Given the description of an element on the screen output the (x, y) to click on. 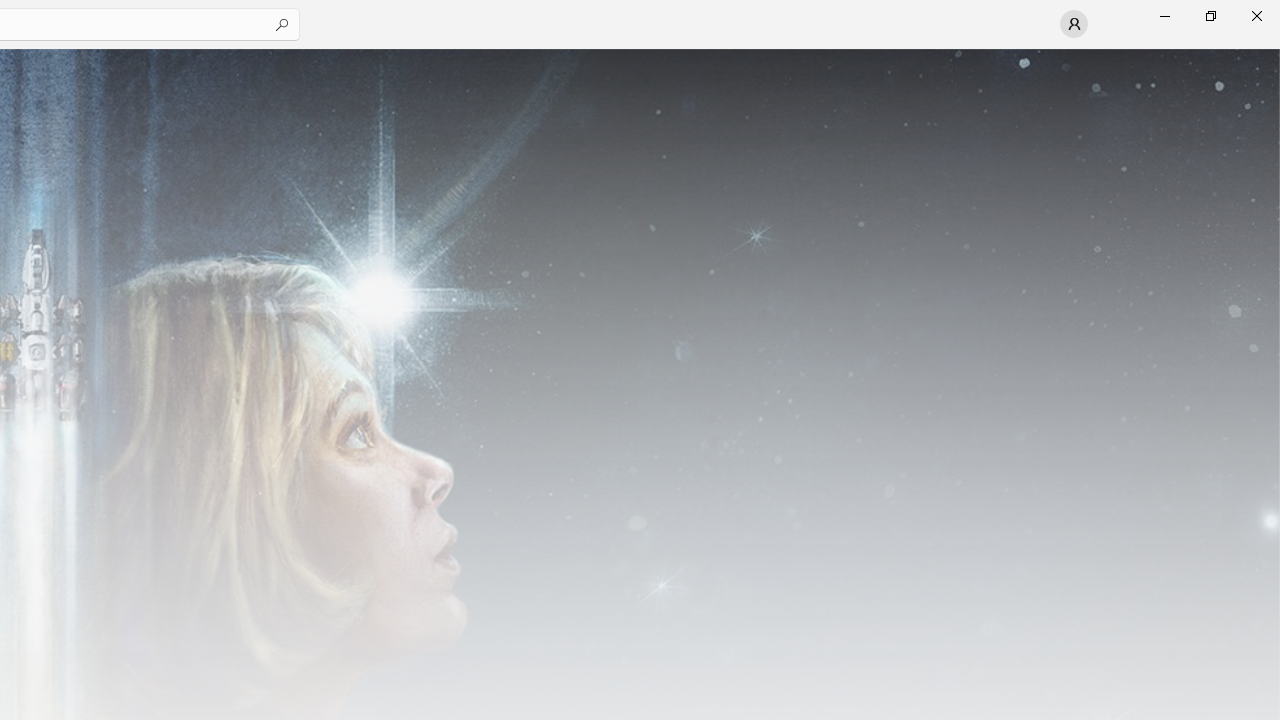
Minimize Microsoft Store (1164, 15)
Restore Microsoft Store (1210, 15)
User profile (1073, 24)
Close Microsoft Store (1256, 15)
